Given the description of an element on the screen output the (x, y) to click on. 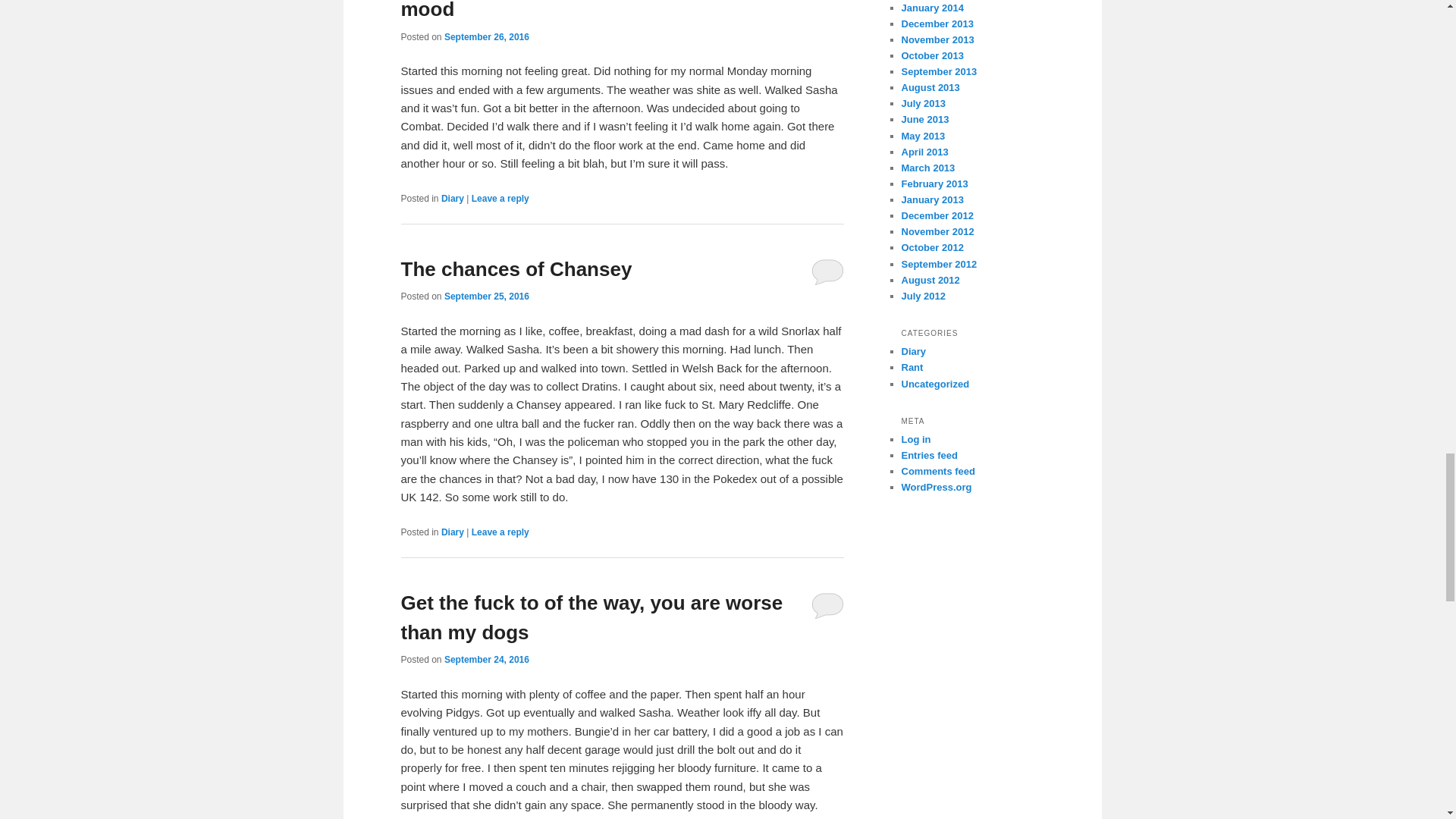
September 26, 2016 (486, 36)
Diary (452, 198)
10:33 pm (486, 296)
September 25, 2016 (486, 296)
10:09 pm (486, 659)
Leave a reply (500, 198)
Been feeling bit iffy, does nothing for my mood (590, 10)
10:53 pm (486, 36)
The chances of Chansey (515, 268)
